Given the description of an element on the screen output the (x, y) to click on. 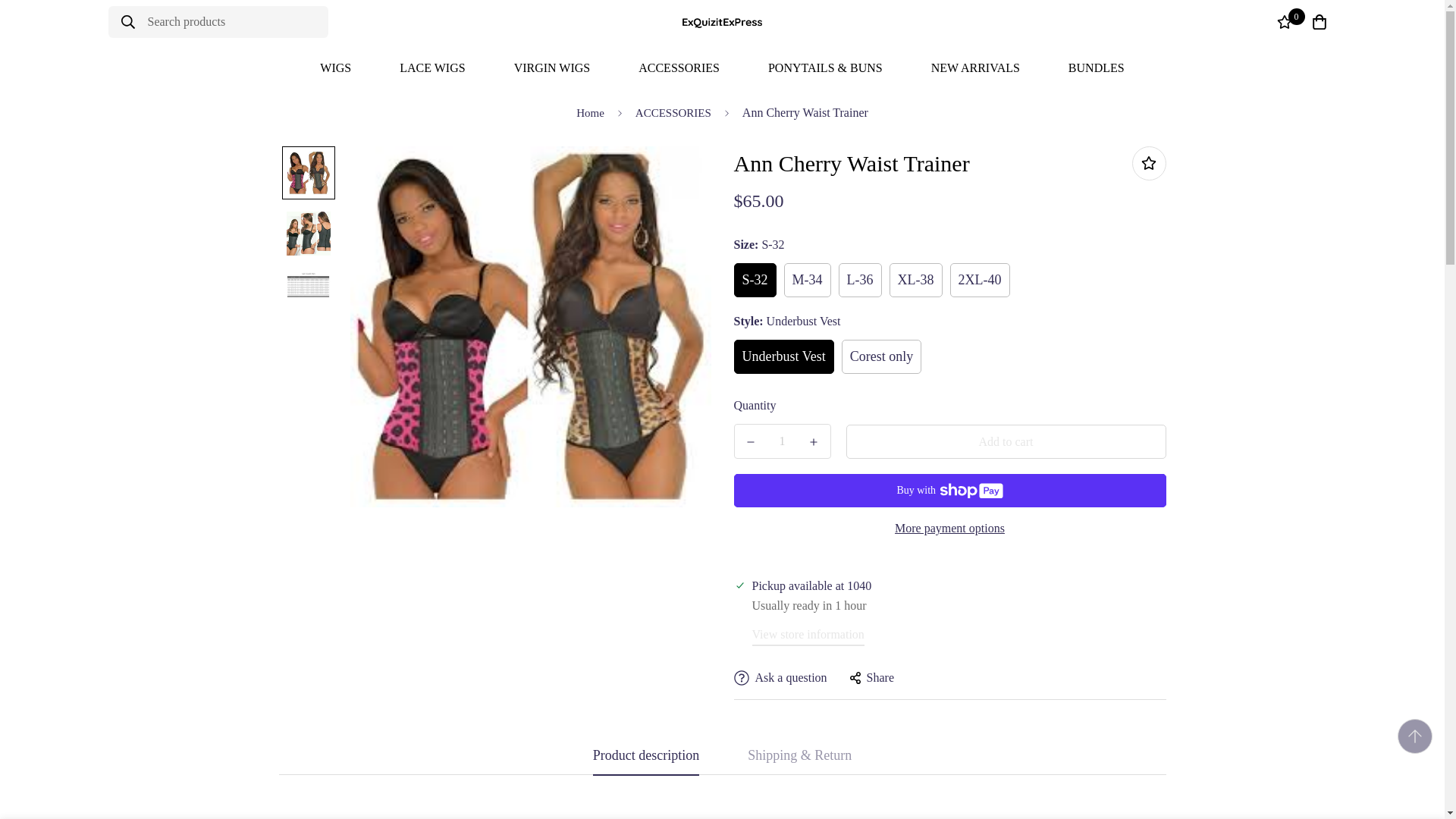
Back to the home page (589, 112)
WIGS (335, 67)
PureVirgin Hair (721, 21)
Home (589, 112)
LACE WIGS (432, 67)
NEW ARRIVALS (975, 67)
ACCESSORIES (679, 67)
1 (782, 441)
ACCESSORIES (673, 112)
